Given the description of an element on the screen output the (x, y) to click on. 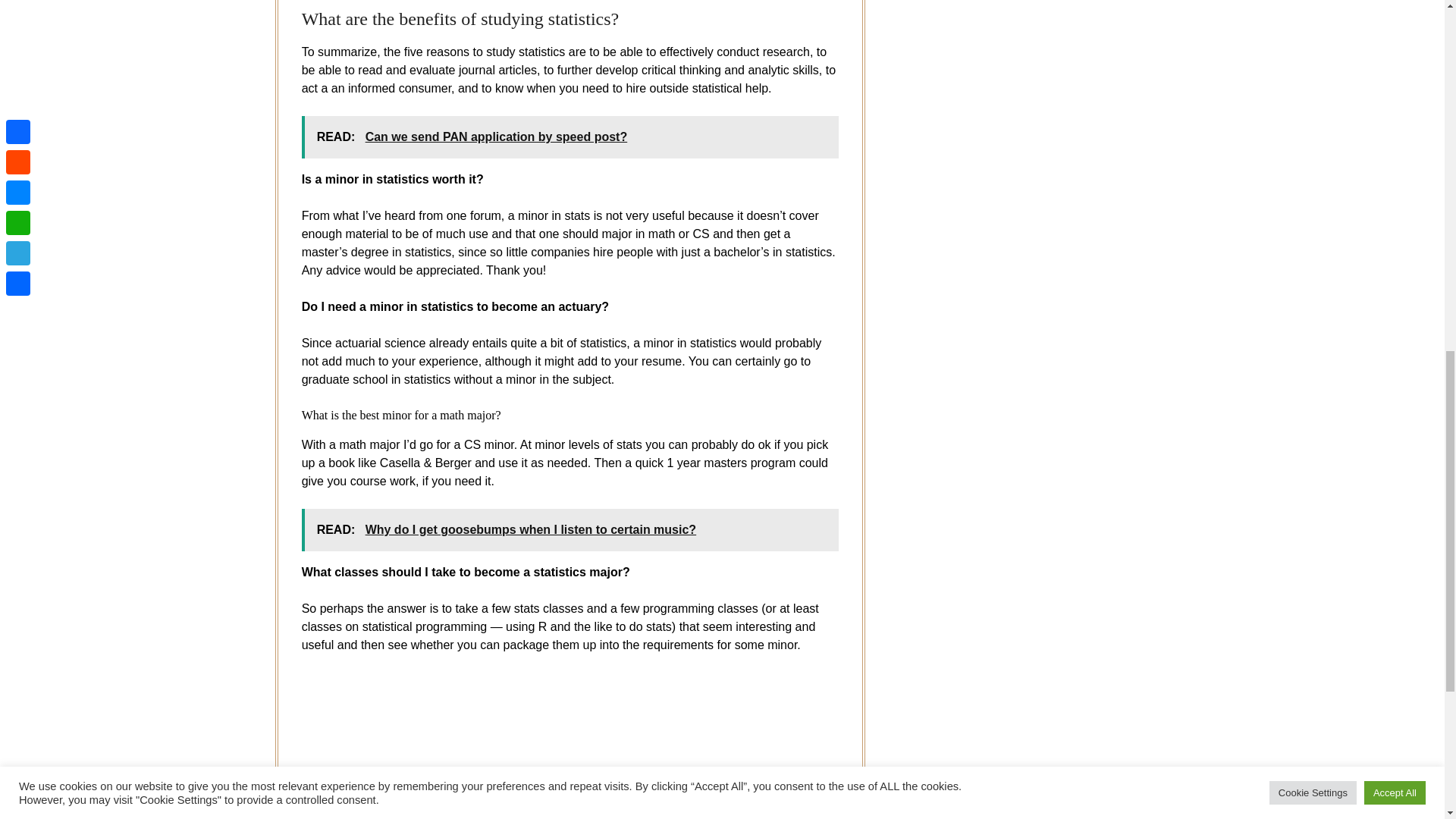
The BEST College Degree Minors! (544, 745)
READ:   Can we send PAN application by speed post? (570, 137)
